Given the description of an element on the screen output the (x, y) to click on. 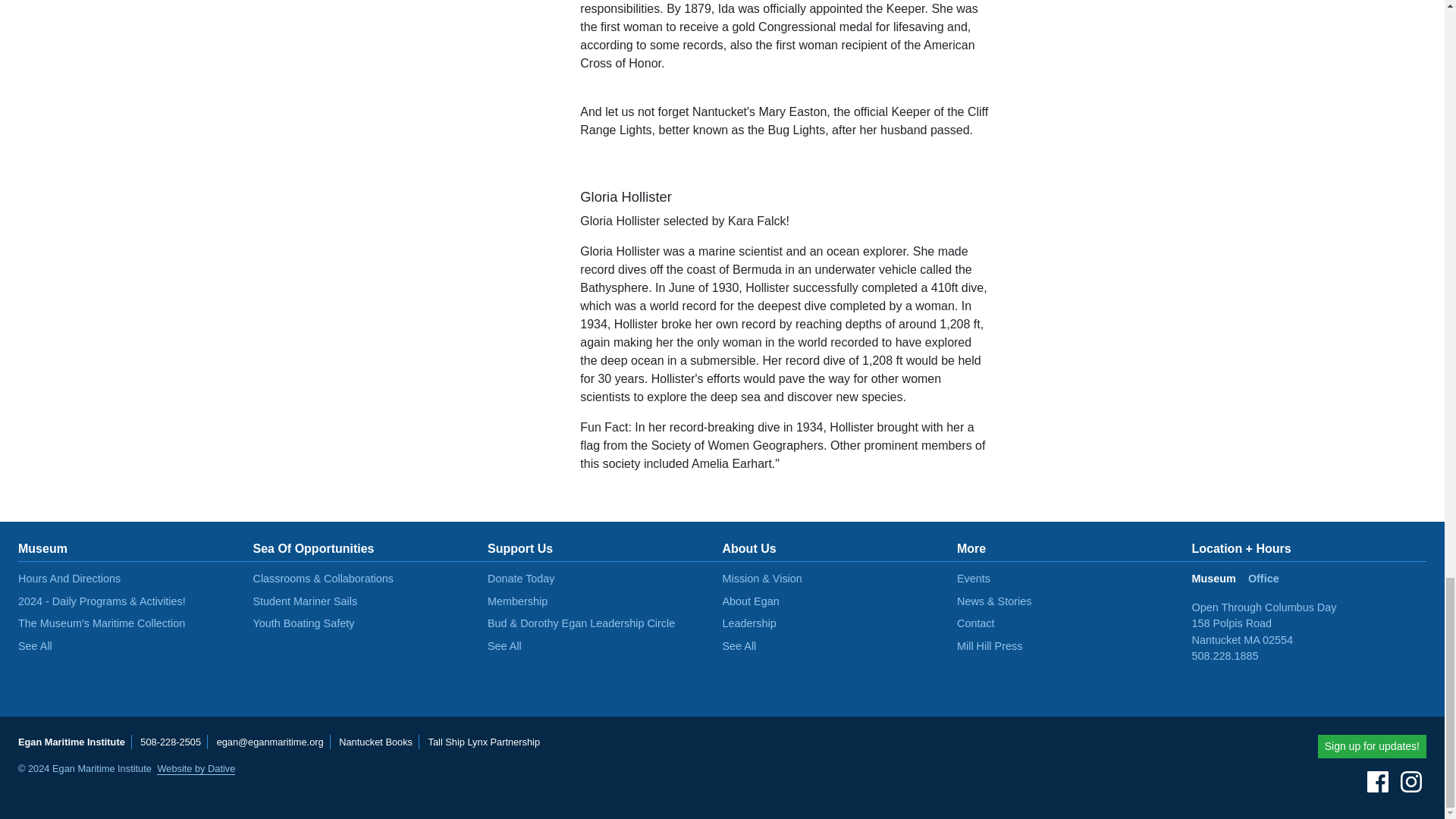
Student Mariner Sails (305, 600)
Hours And Directions (68, 578)
Support Us (520, 548)
Sign up for updates! (1371, 746)
Office (1269, 584)
Leadership (749, 623)
Museum (1219, 584)
Sea Of Opportunities (313, 548)
Youth Boating Safety (304, 623)
Contact (975, 623)
Donate Today (520, 578)
Museum (41, 548)
Membership (517, 600)
See All (34, 645)
About Us (749, 548)
